Given the description of an element on the screen output the (x, y) to click on. 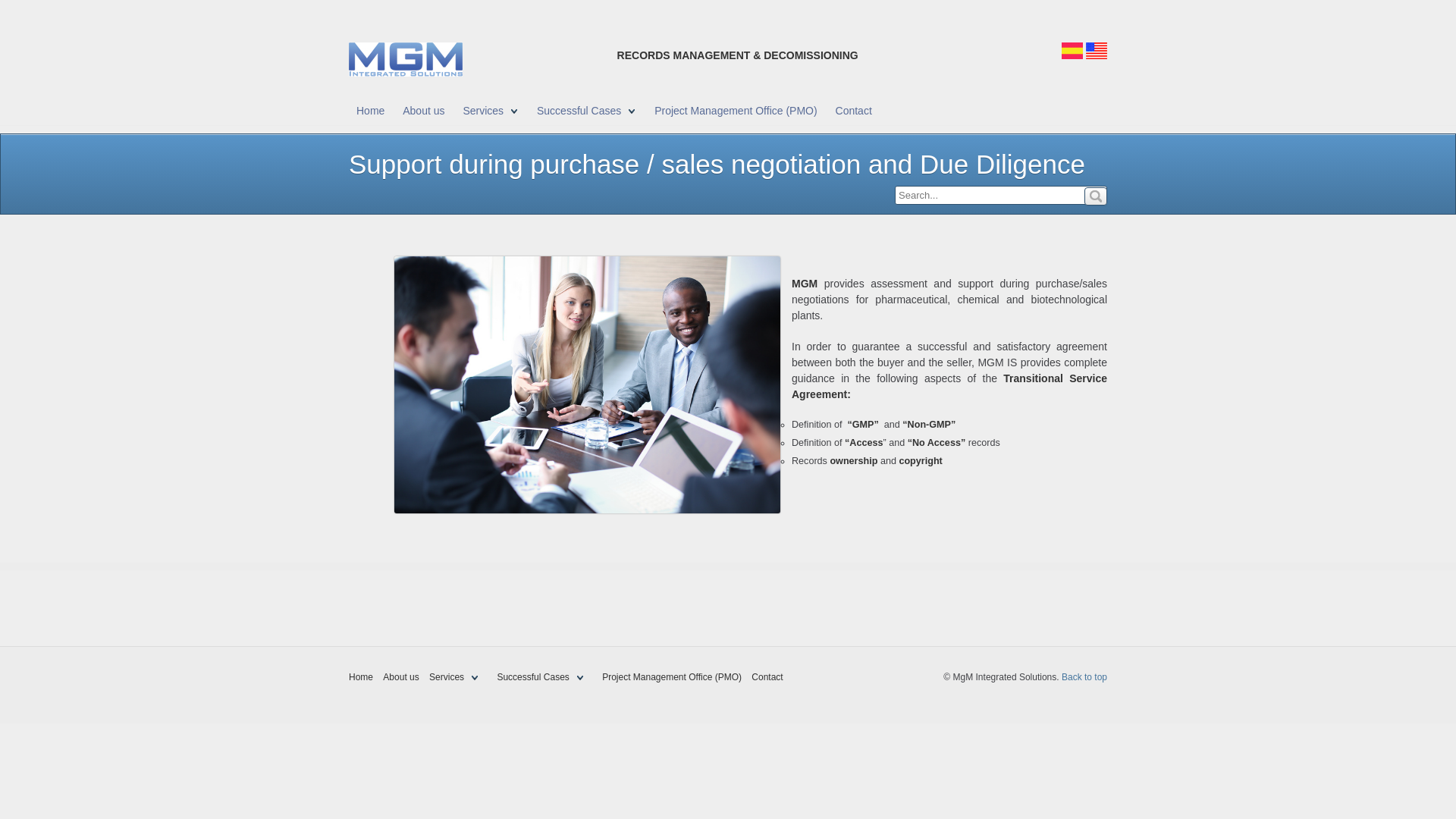
Successful Cases (543, 677)
About us (400, 677)
Services (457, 677)
About us (422, 111)
Search... (1000, 194)
Contact (853, 111)
Go (1095, 196)
Back to top (1083, 676)
Successful Cases (586, 111)
Home (360, 677)
